Given the description of an element on the screen output the (x, y) to click on. 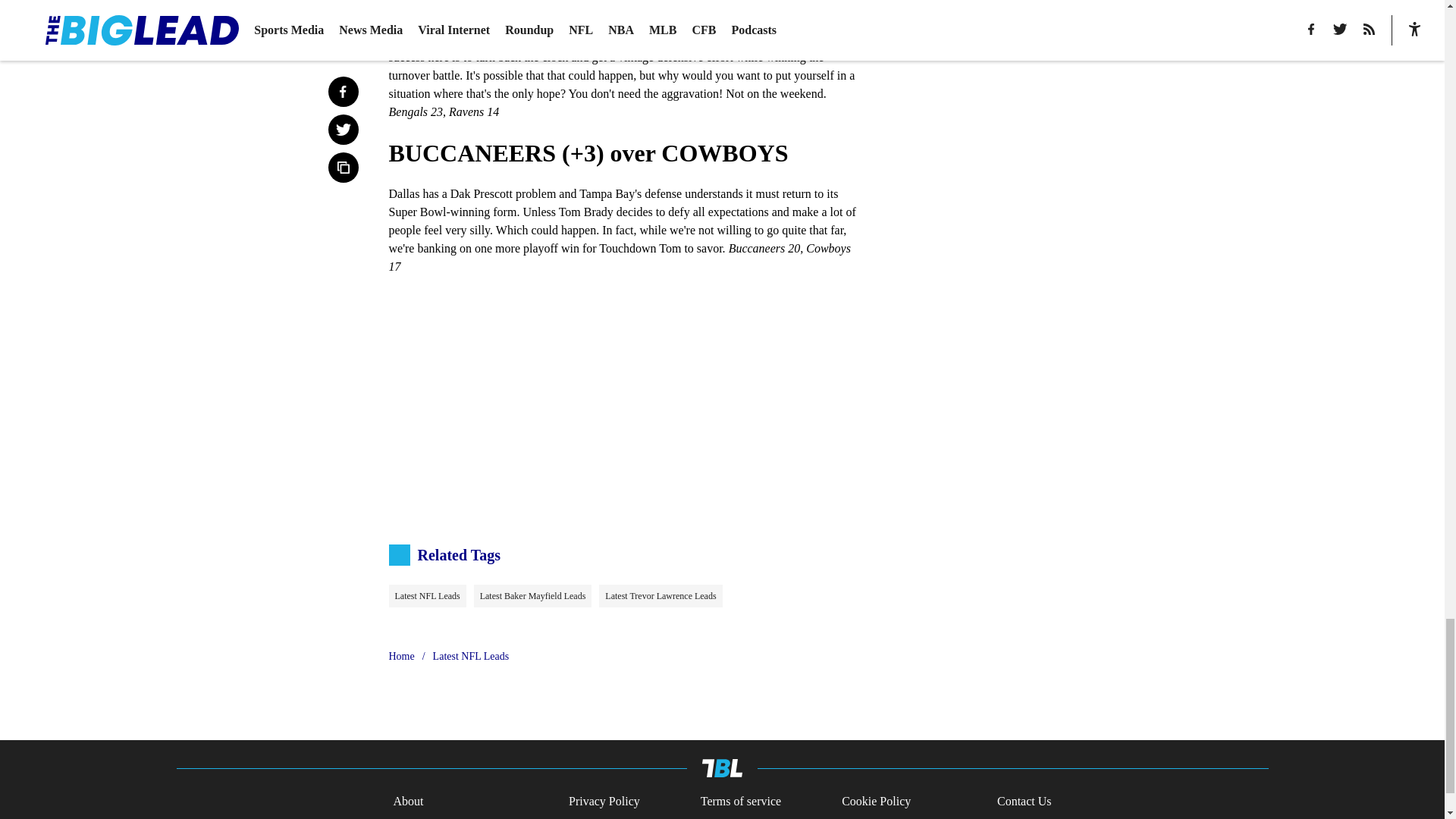
Cookie Policy (876, 801)
Latest NFL Leads (426, 595)
Terms of service (740, 801)
Privacy Policy (604, 801)
Contact Us (1024, 801)
Latest Trevor Lawrence Leads (660, 595)
Home (400, 656)
About (408, 801)
Latest NFL Leads (470, 656)
Latest Baker Mayfield Leads (533, 595)
